Given the description of an element on the screen output the (x, y) to click on. 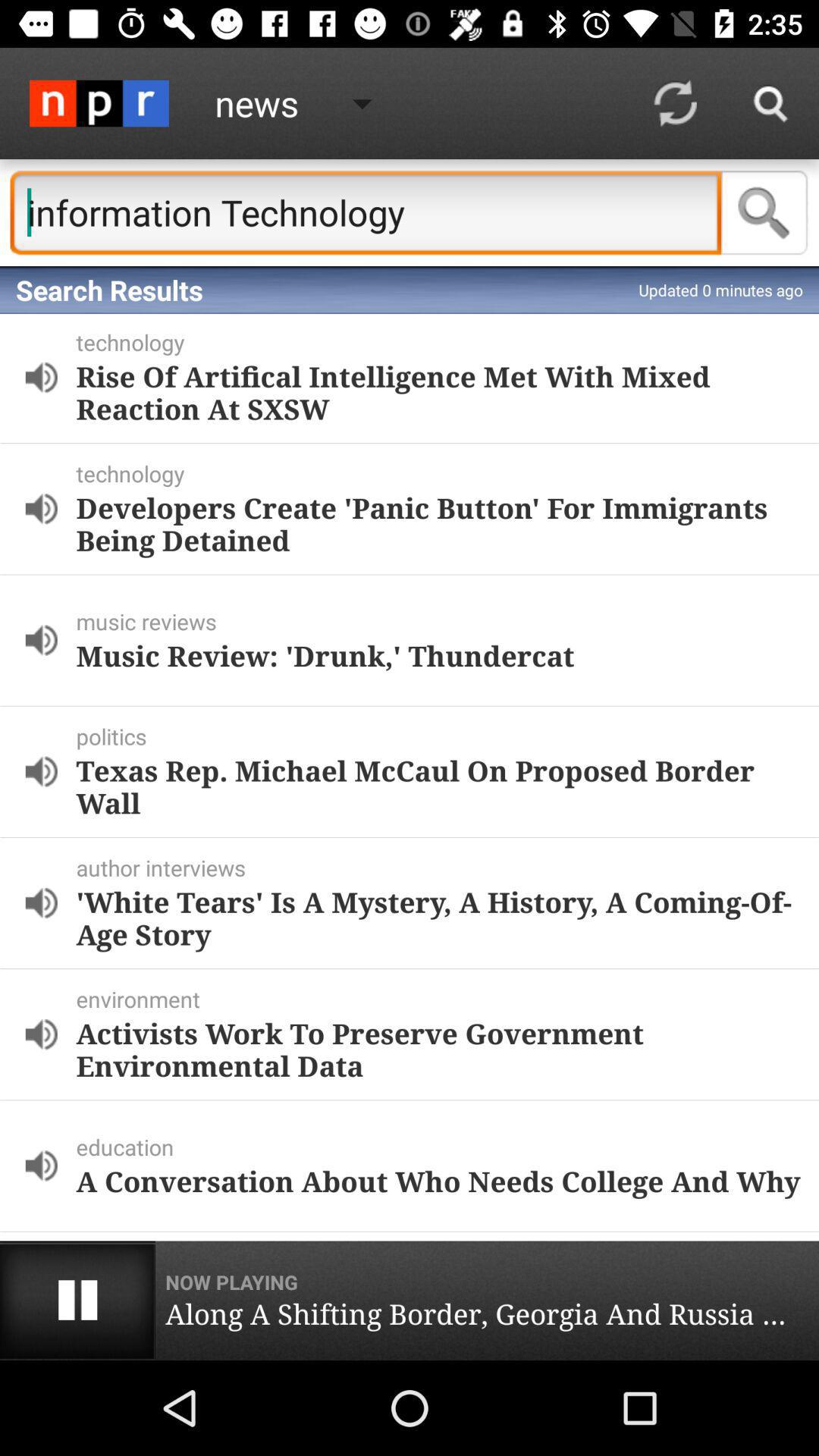
the volume icon shown in the first option below search results (40, 377)
click the button on the right next to the logo on the web page (304, 103)
select the logo on the top left corner of the web page (98, 103)
